Given the description of an element on the screen output the (x, y) to click on. 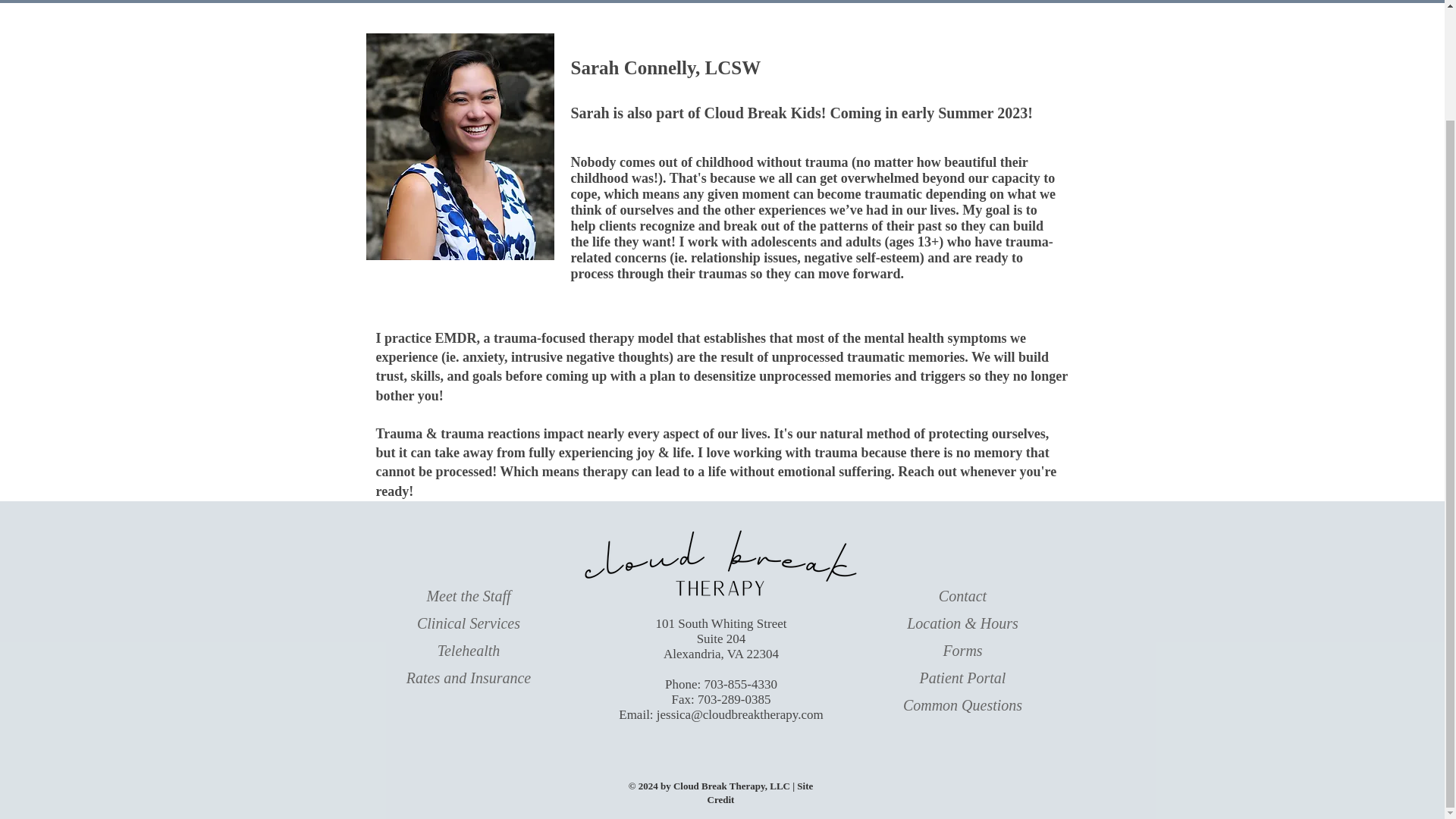
Meet the Staff (468, 596)
Patient Portal (963, 677)
Clinical Services (467, 623)
Site Credit (760, 792)
Forms (961, 650)
Telehealth (469, 650)
Common Questions (962, 704)
Contact (963, 596)
Rates and Insurance (468, 677)
